Given the description of an element on the screen output the (x, y) to click on. 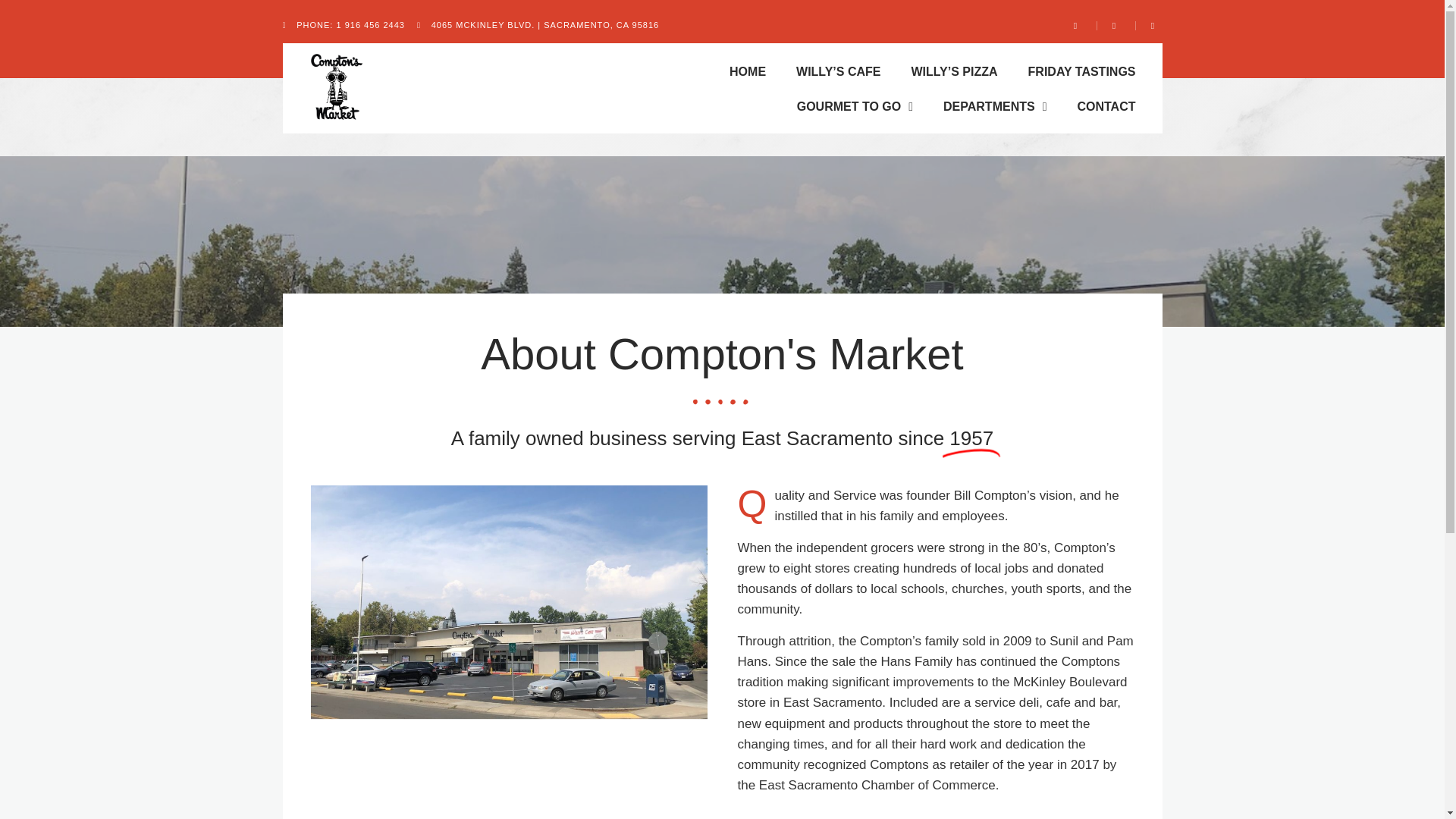
DEPARTMENTS (994, 106)
HOME (747, 71)
FRIDAY TASTINGS (1082, 71)
CONTACT (1105, 106)
PHONE: 1 916 456 2443 (343, 25)
GOURMET TO GO (854, 106)
